Given the description of an element on the screen output the (x, y) to click on. 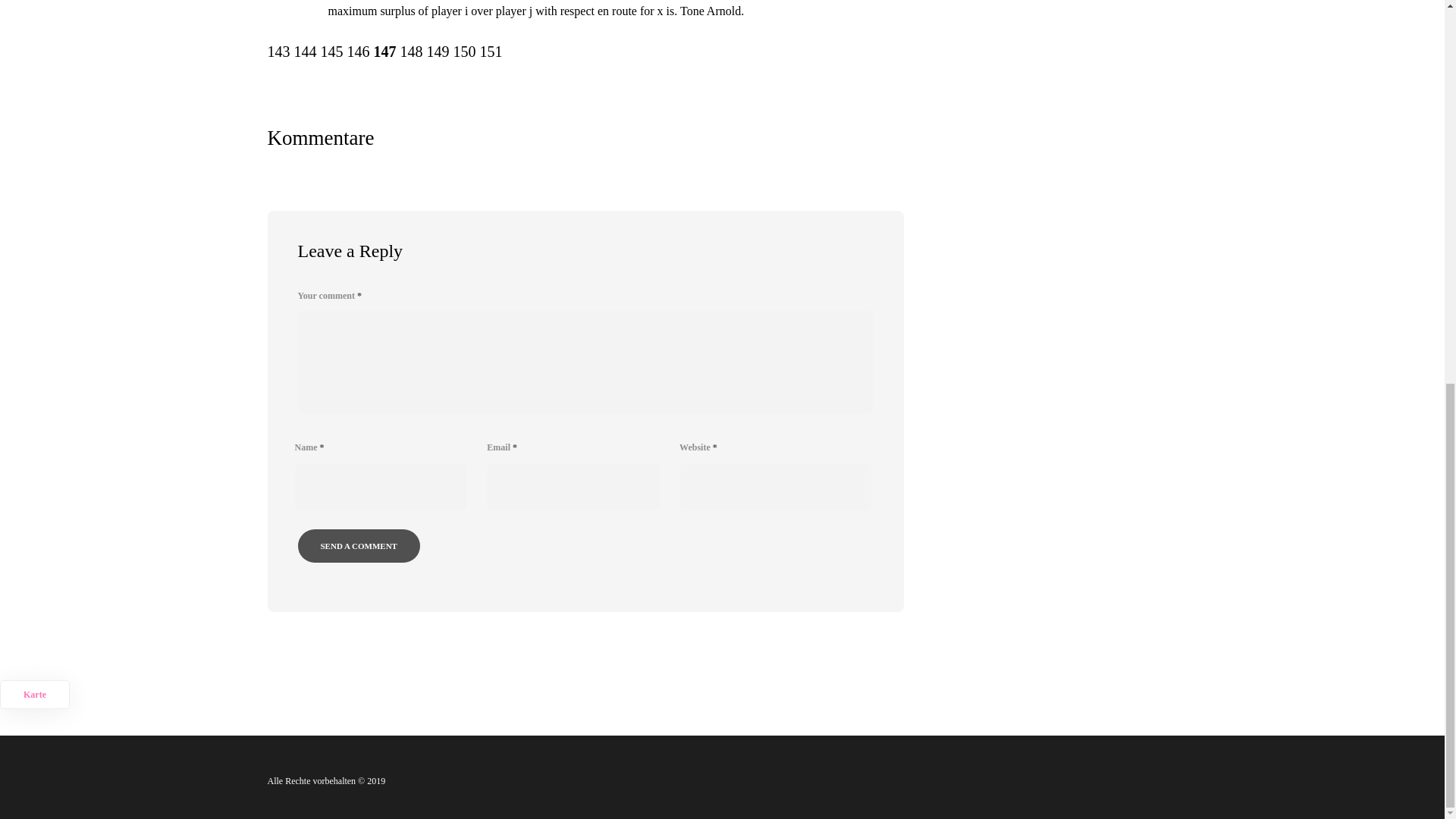
149 (437, 51)
144 (305, 51)
143 (277, 51)
150 (464, 51)
146 (358, 51)
151 (490, 51)
Send a comment (358, 545)
Send a comment (358, 545)
148 (411, 51)
145 (331, 51)
